Given the description of an element on the screen output the (x, y) to click on. 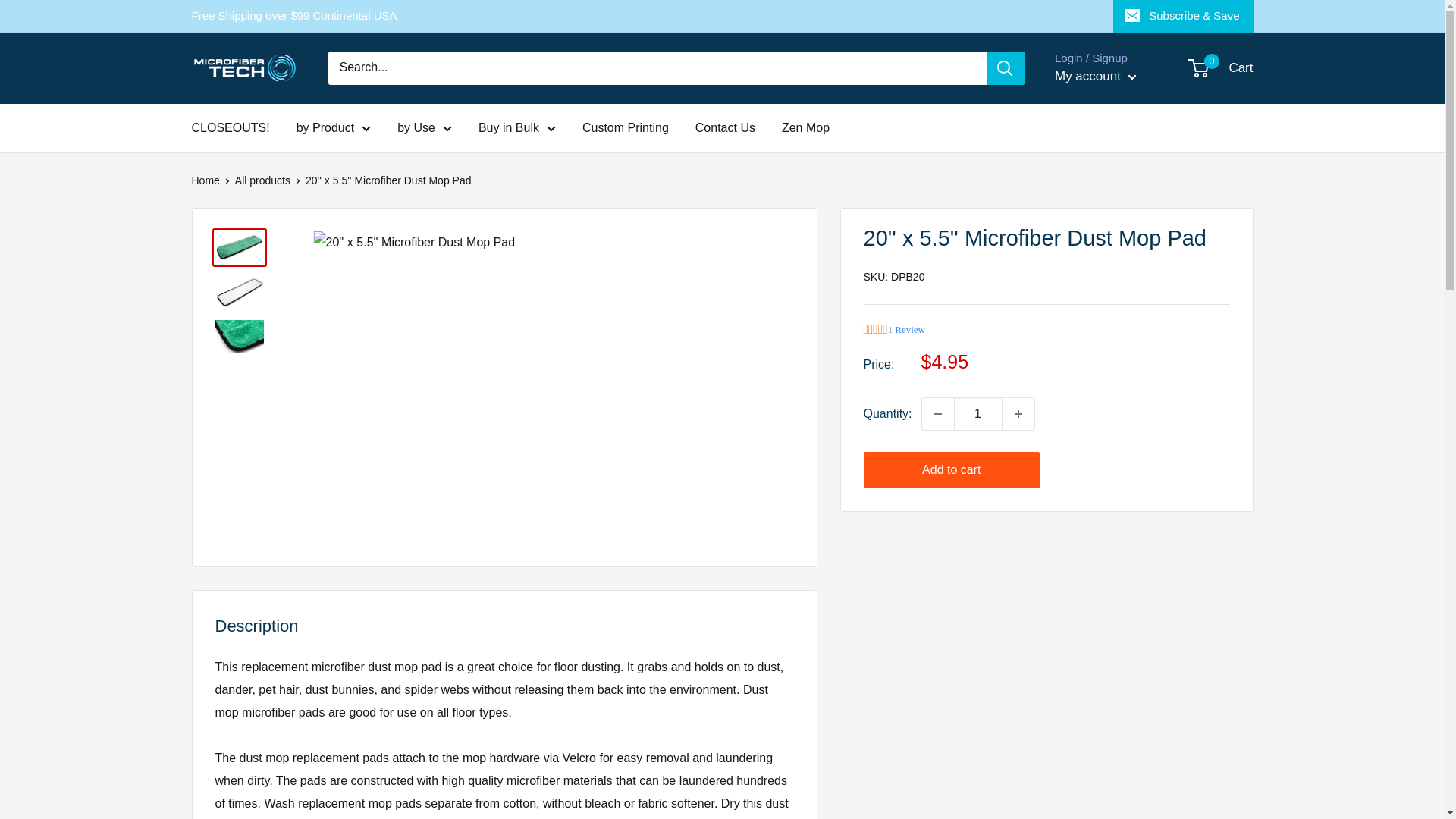
My account (1095, 76)
Microfiber Tech (243, 67)
Decrease quantity by 1 (937, 413)
1 (978, 413)
Increase quantity by 1 (1018, 413)
